Given the description of an element on the screen output the (x, y) to click on. 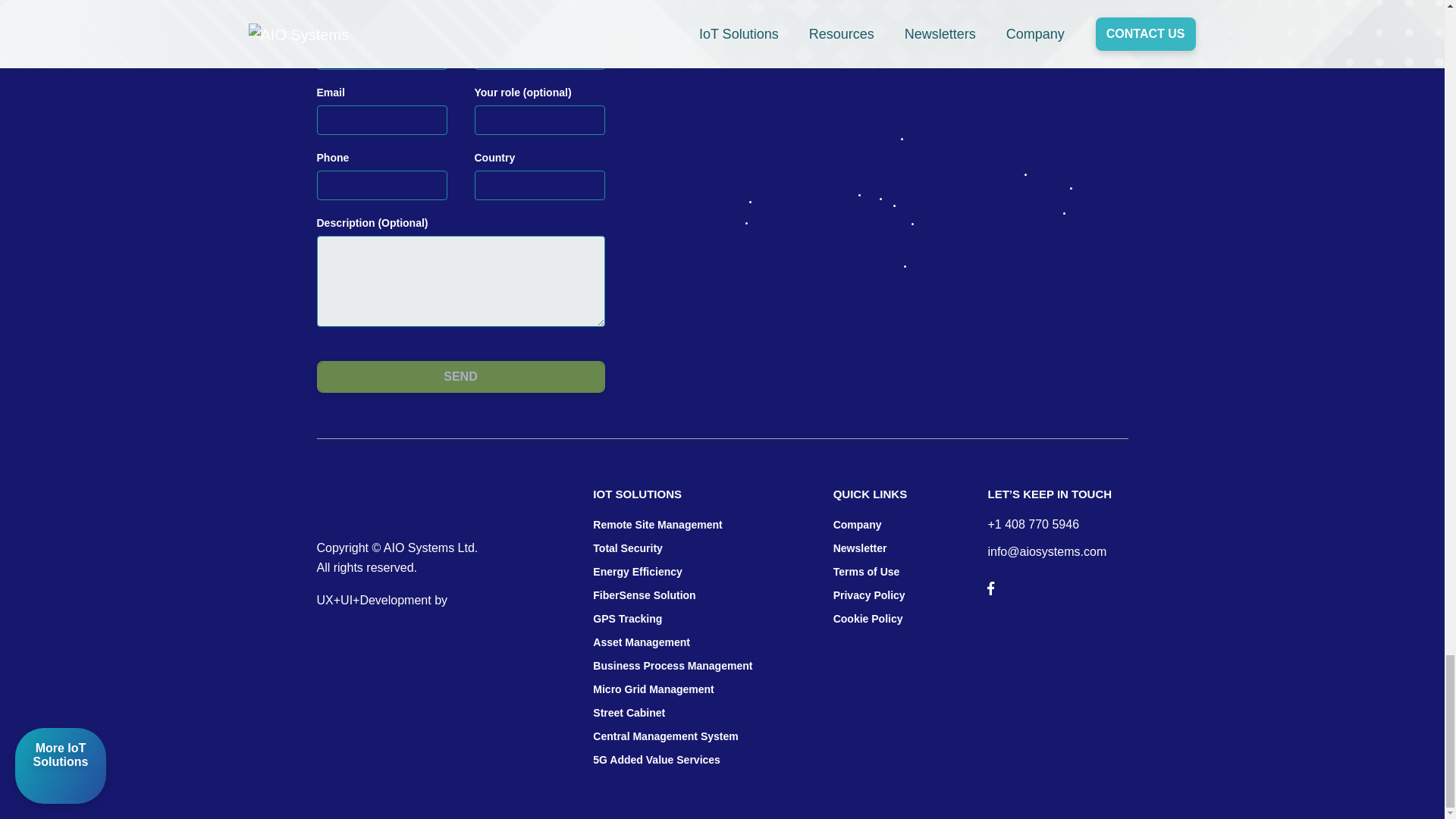
Send (461, 377)
Send (461, 377)
